Given the description of an element on the screen output the (x, y) to click on. 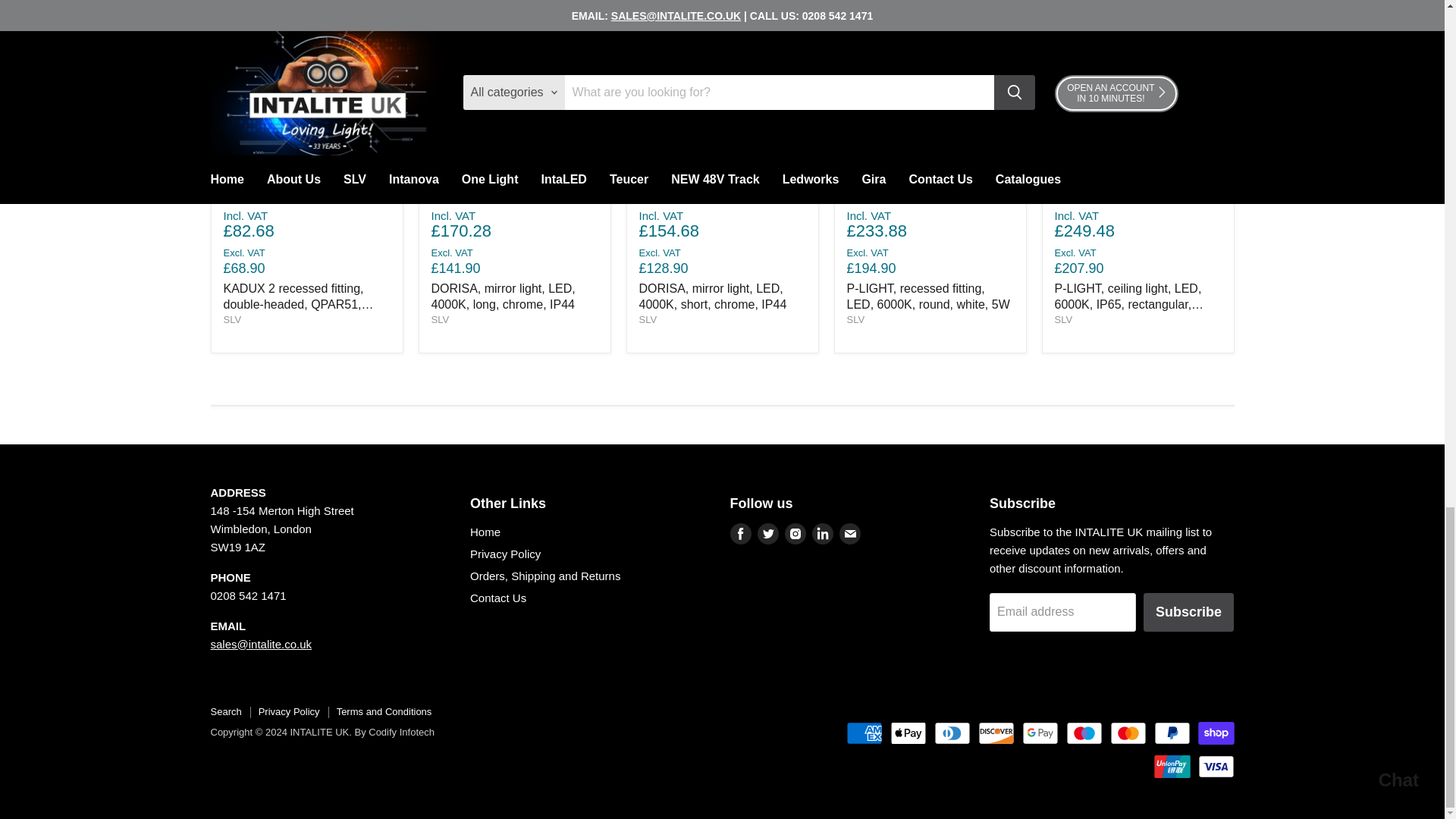
American Express (863, 732)
SLV (231, 319)
Facebook (740, 533)
SLV (854, 319)
Discover (996, 732)
SLV (647, 319)
Instagram (794, 533)
Email (849, 533)
LinkedIn (821, 533)
Apple Pay (907, 732)
